Given the description of an element on the screen output the (x, y) to click on. 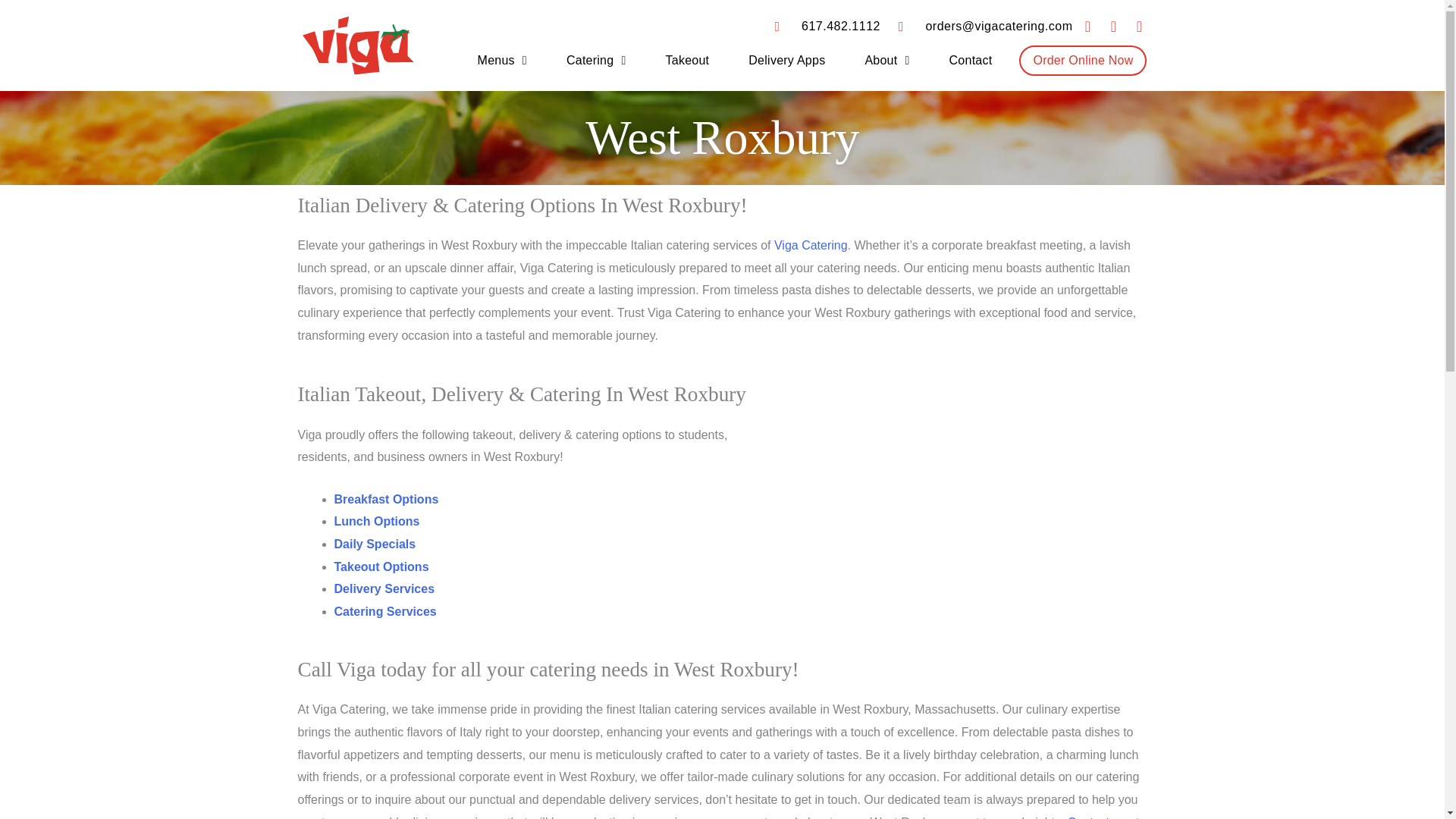
Facebook (1087, 26)
Delivery Apps (786, 60)
Takeout (687, 60)
Twitter (1113, 26)
Instagram (1139, 26)
About (886, 60)
Contact (970, 60)
617.482.1112 (827, 26)
Catering (596, 60)
Order Online Now (1083, 60)
West Roxbury, ma (967, 495)
Menus (501, 60)
